Given the description of an element on the screen output the (x, y) to click on. 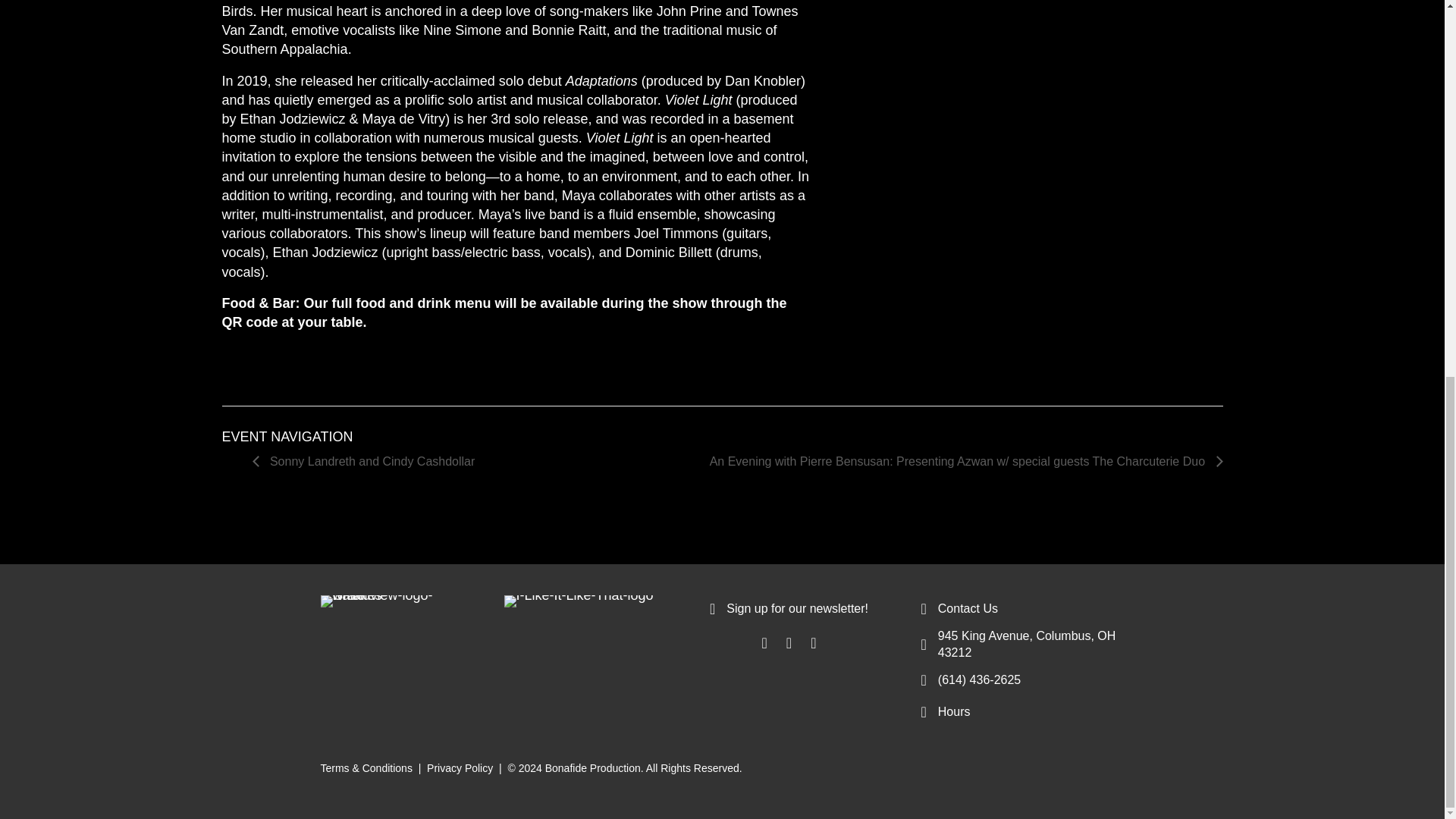
Natalies-Grandview-logo-white (376, 601)
I-Like-It-Like-That-logo (577, 601)
